Given the description of an element on the screen output the (x, y) to click on. 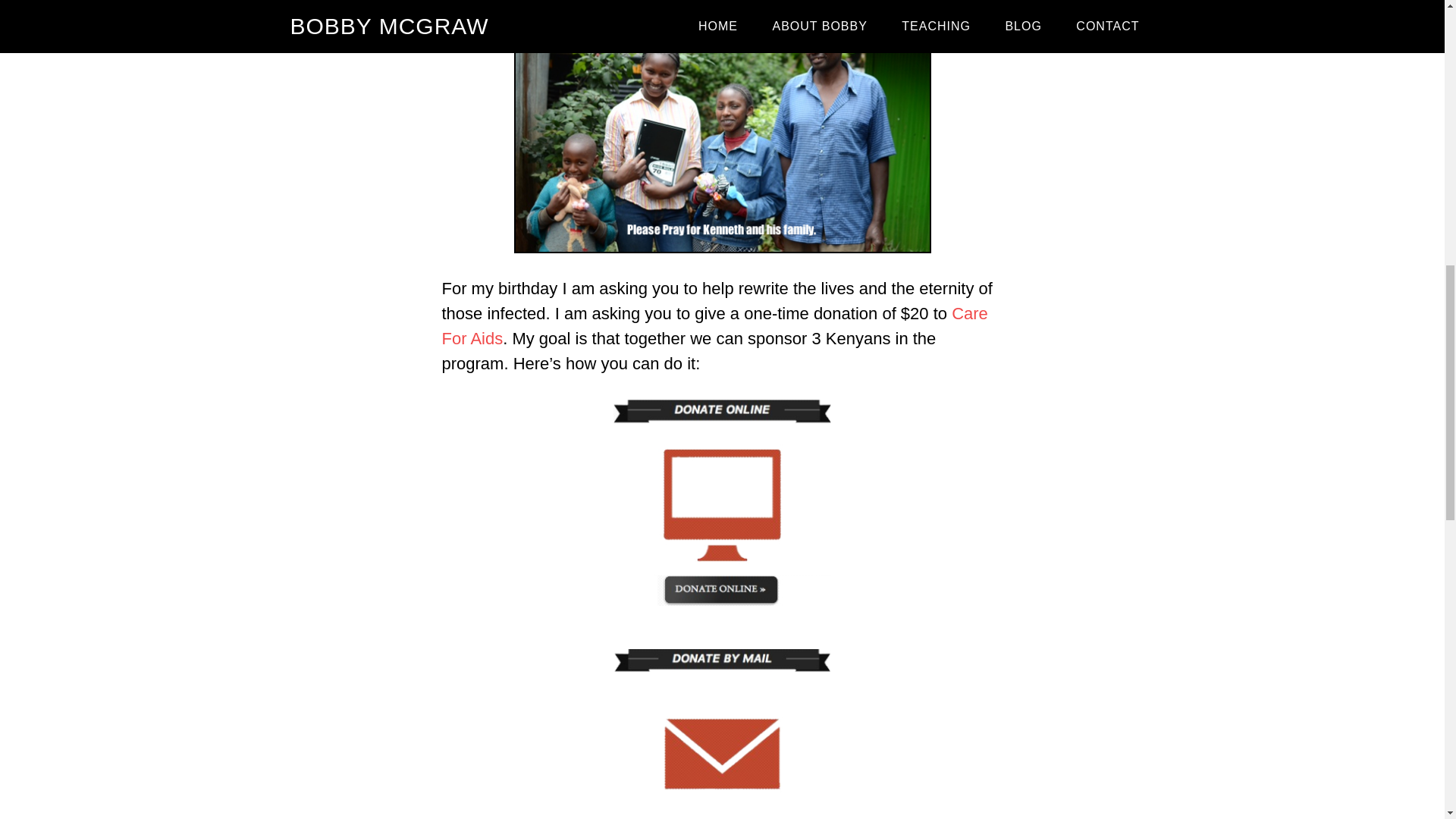
CFA-Kenneth (722, 132)
Care For Aids (714, 325)
